Given the description of an element on the screen output the (x, y) to click on. 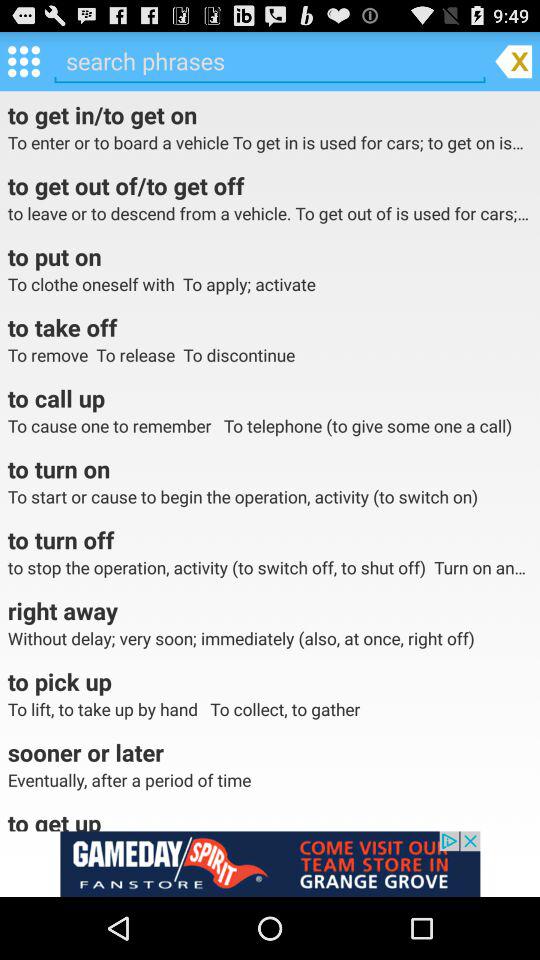
menu (23, 60)
